Given the description of an element on the screen output the (x, y) to click on. 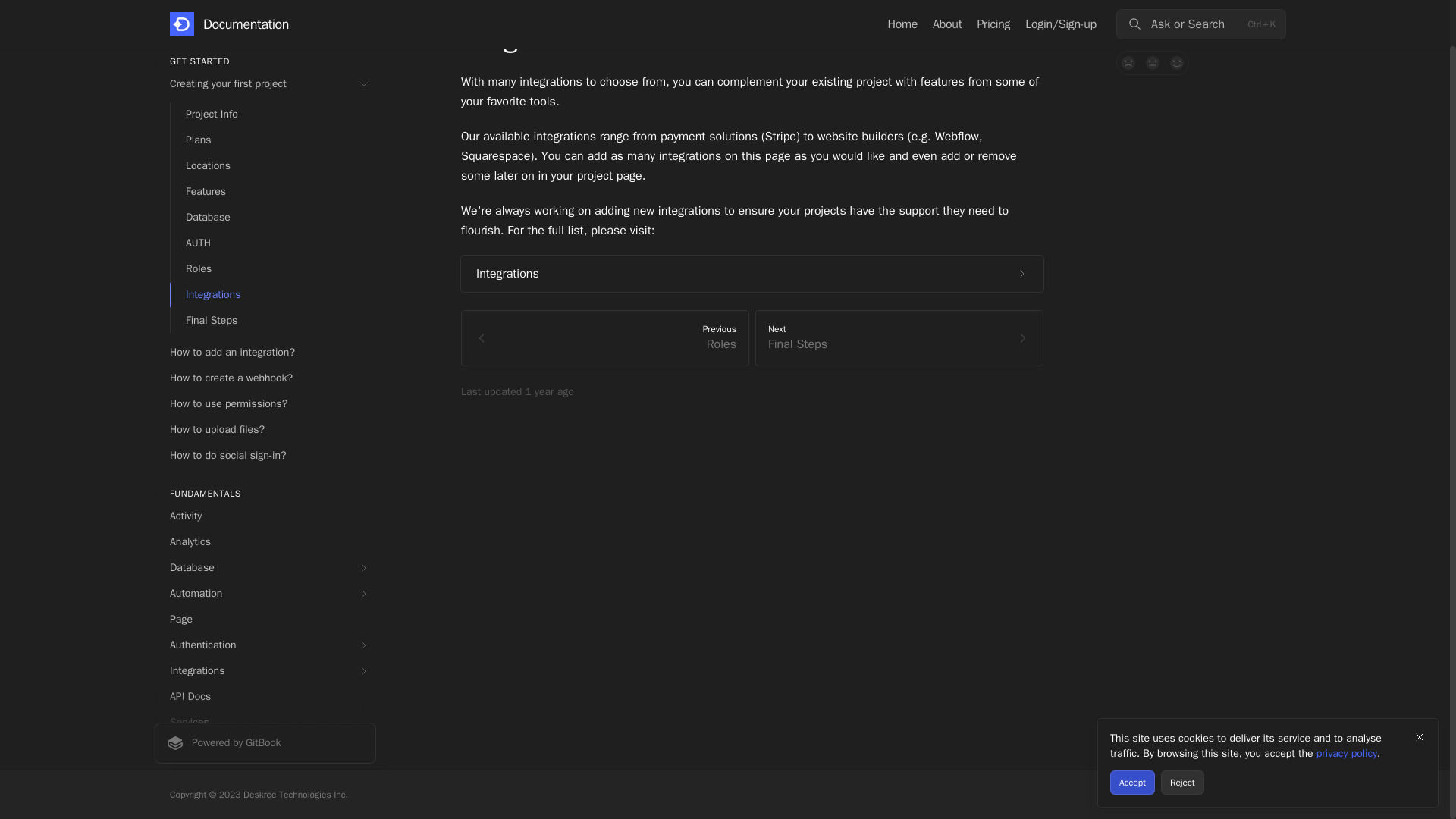
Project Info (272, 114)
Was this helpful? (1200, 211)
Features (272, 191)
Activity (264, 516)
Authentication (264, 645)
Not sure (1152, 62)
How to use permissions? (264, 404)
How to add an integration? (264, 352)
How to do social sign-in? (264, 455)
Integrations (272, 294)
Integrations (264, 671)
How to create a webhook? (264, 378)
Analytics (264, 541)
Overview (264, 23)
